Given the description of an element on the screen output the (x, y) to click on. 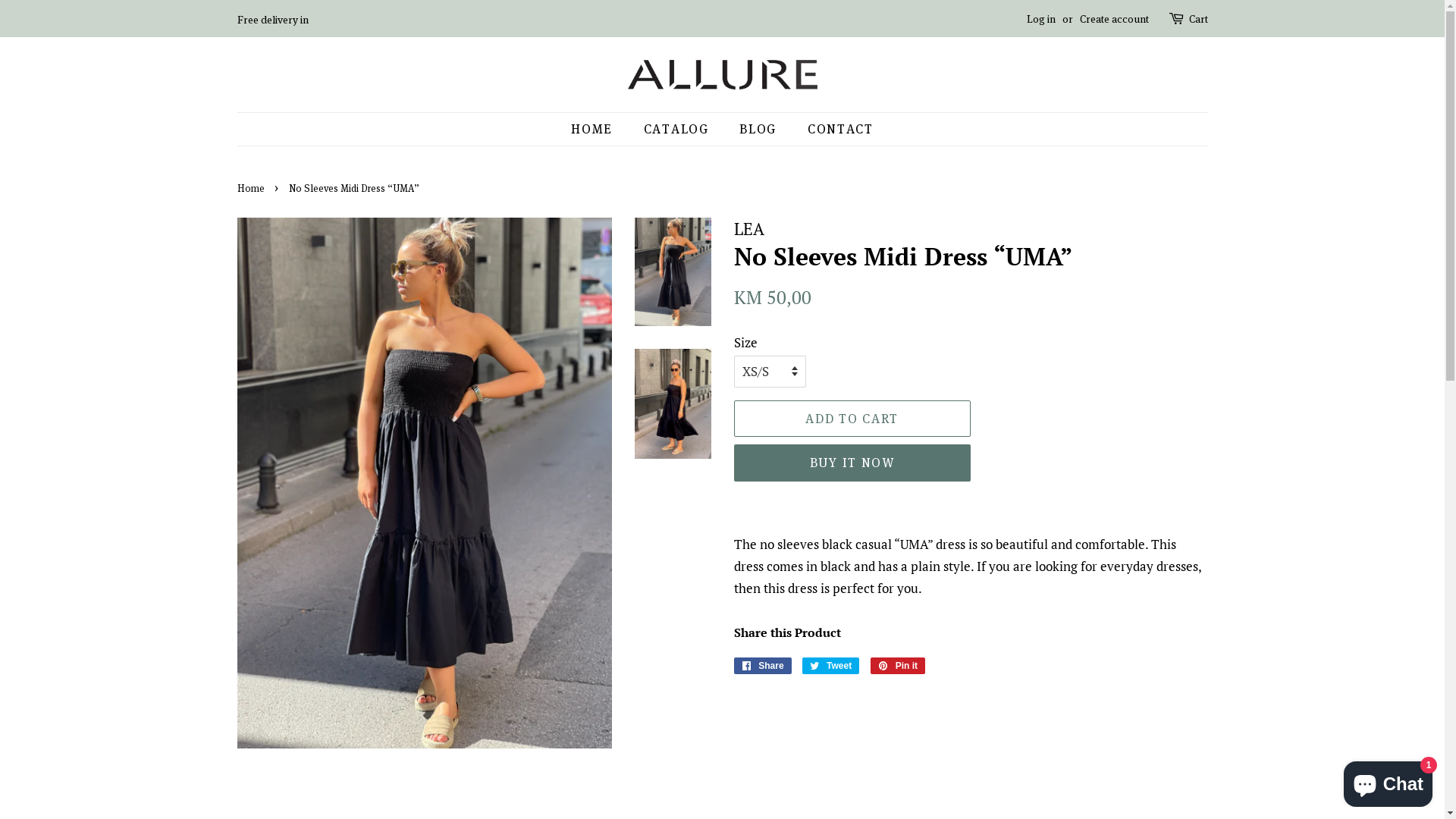
Pin it
Pin on Pinterest Element type: text (897, 665)
Shopify online store chat Element type: hover (1388, 780)
BUY IT NOW Element type: text (852, 462)
Share
Share on Facebook Element type: text (762, 665)
Home Element type: text (251, 187)
CATALOG Element type: text (678, 128)
HOME Element type: text (599, 128)
Create account Element type: text (1113, 18)
Tweet
Tweet on Twitter Element type: text (830, 665)
BLOG Element type: text (759, 128)
Cart Element type: text (1198, 18)
ADD TO CART Element type: text (852, 418)
Log in Element type: text (1040, 18)
CONTACT Element type: text (834, 128)
